Given the description of an element on the screen output the (x, y) to click on. 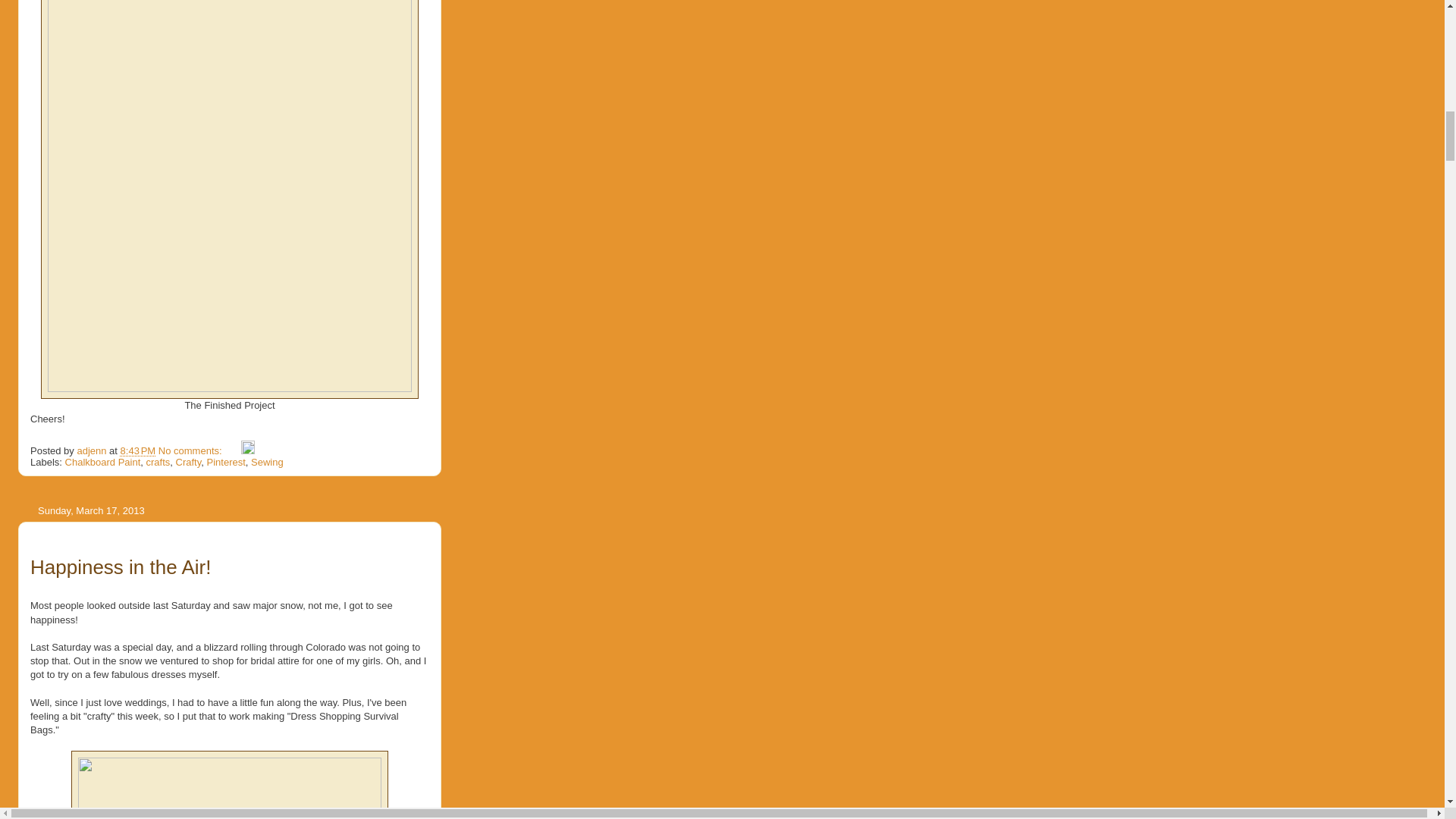
Chalkboard Paint (103, 461)
author profile (93, 450)
crafts (158, 461)
No comments: (191, 450)
permanent link (137, 450)
Sewing (266, 461)
adjenn (93, 450)
Pinterest (225, 461)
Happiness in the Air! (120, 567)
Edit Post (247, 450)
Email Post (232, 450)
Crafty (189, 461)
